Given the description of an element on the screen output the (x, y) to click on. 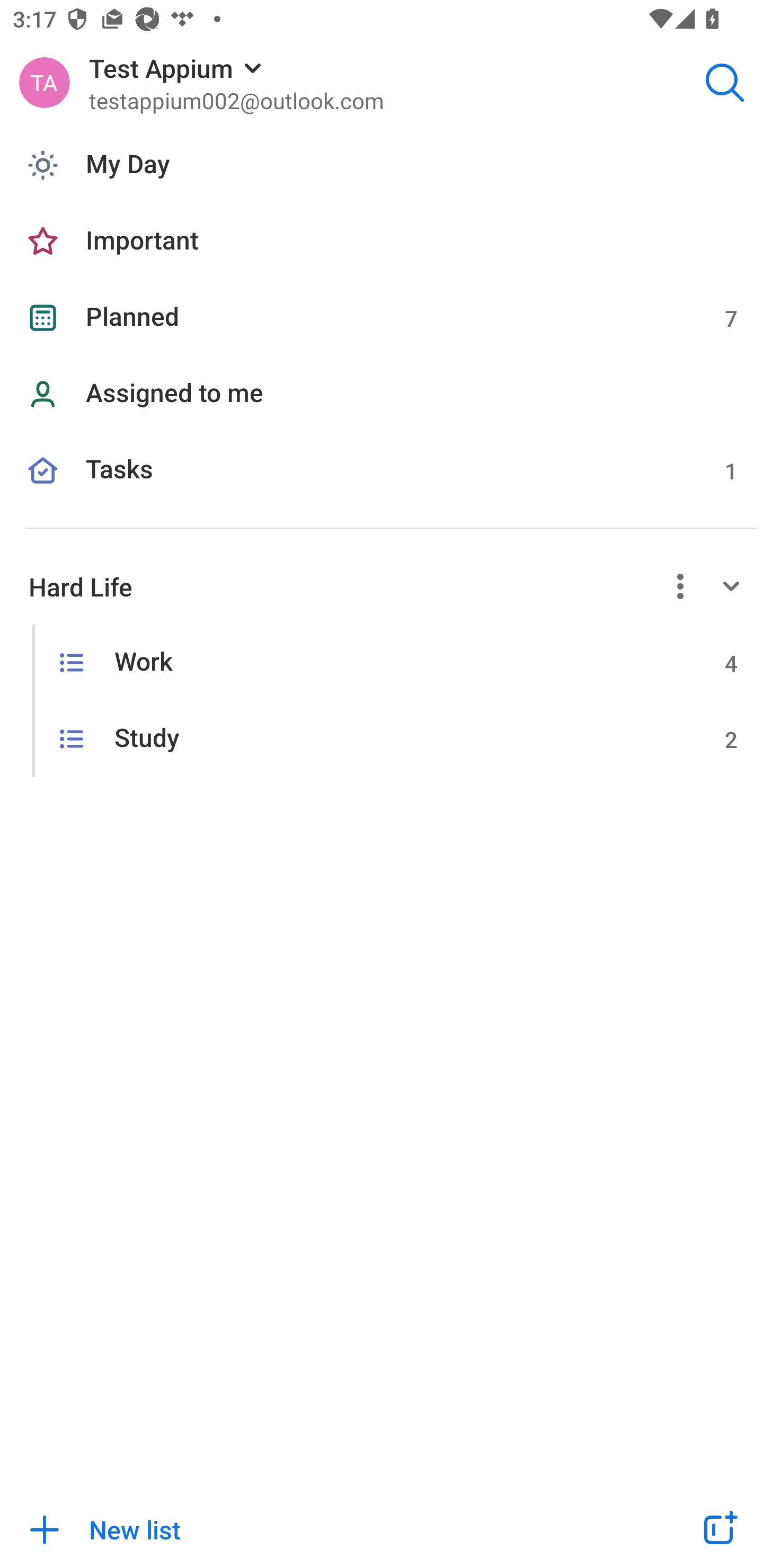
Enter search (724, 81)
